Given the description of an element on the screen output the (x, y) to click on. 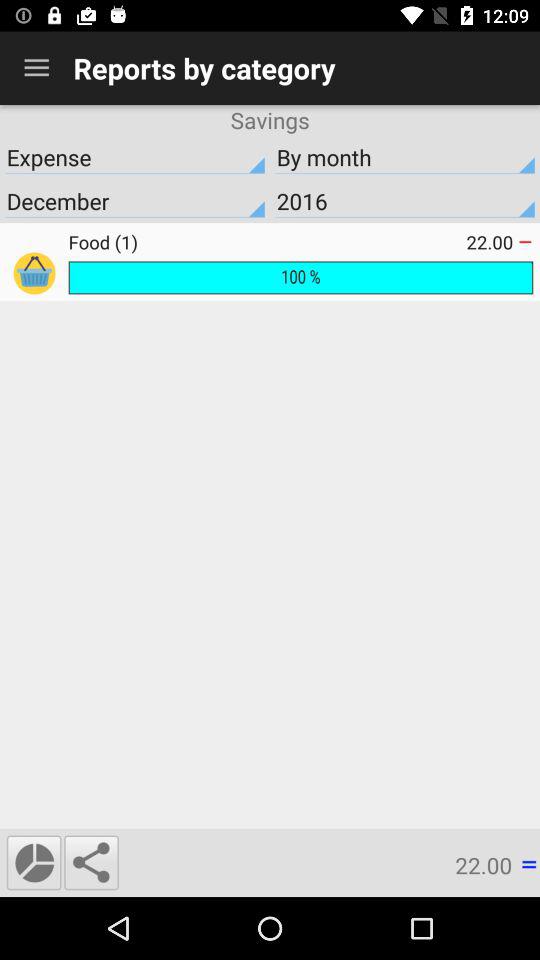
select the item below the december icon (267, 241)
